Given the description of an element on the screen output the (x, y) to click on. 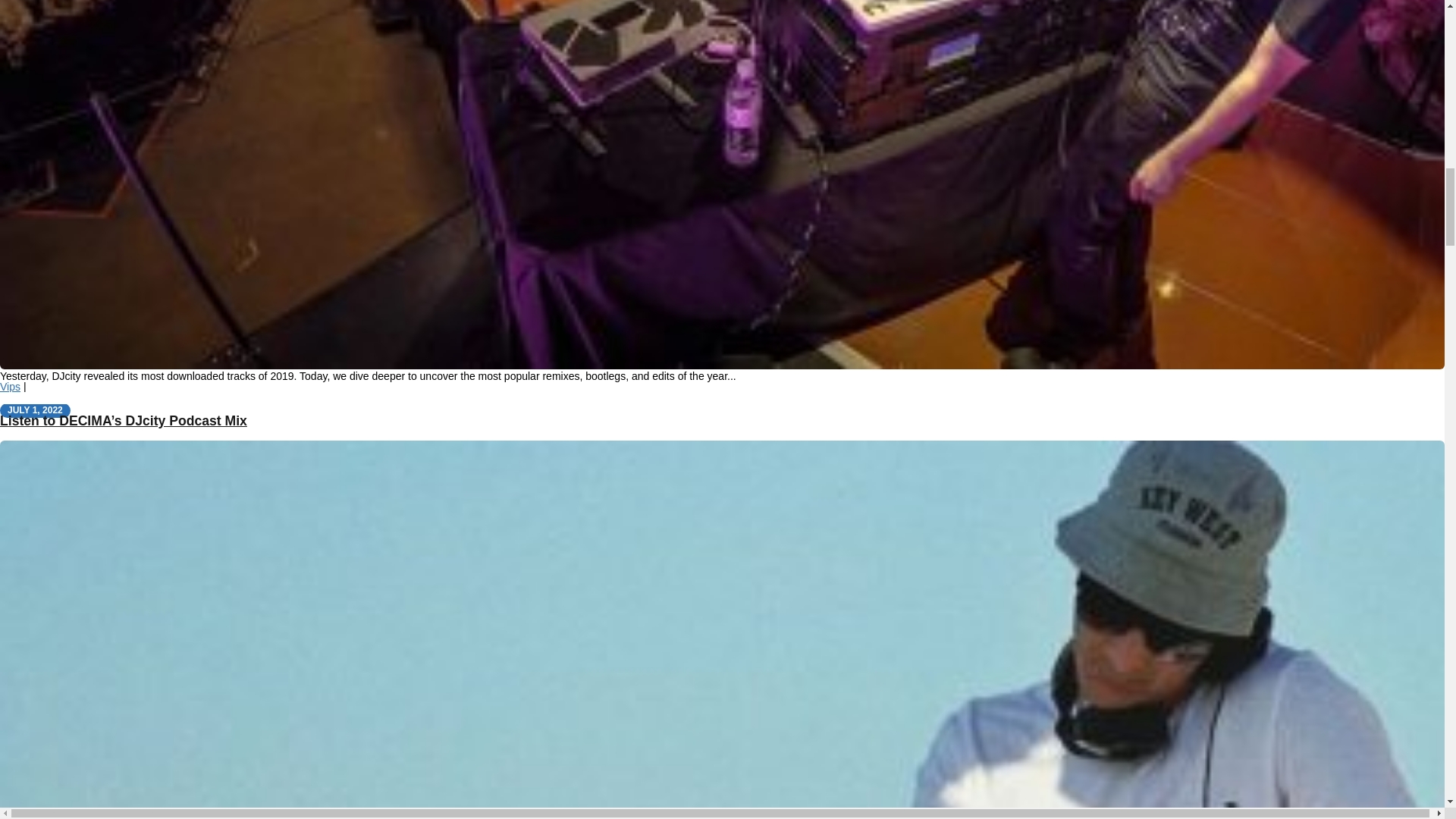
Vips (10, 386)
